Given the description of an element on the screen output the (x, y) to click on. 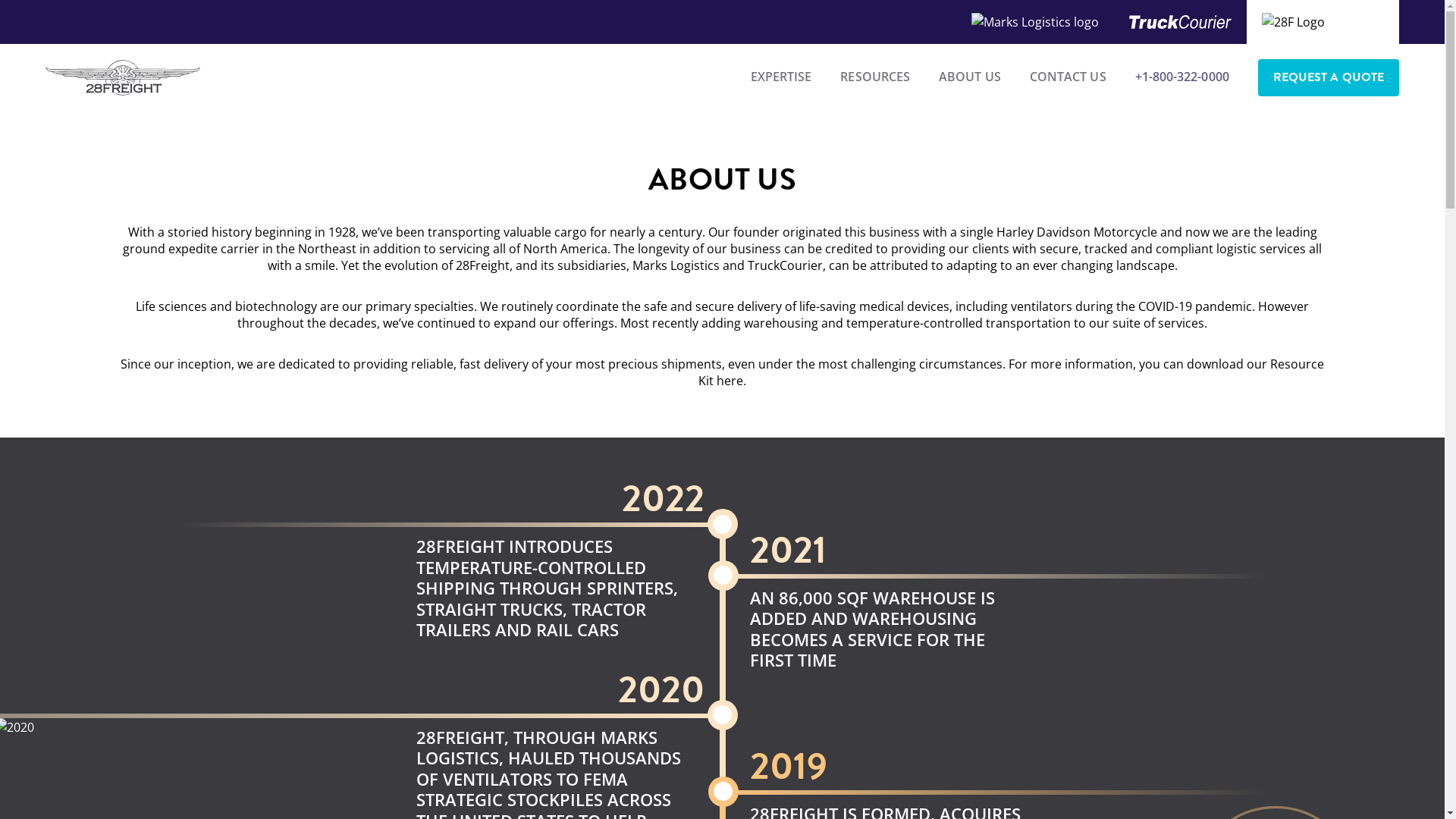
REQUEST A QUOTE Element type: text (1328, 77)
ABOUT US Element type: text (969, 76)
EXPERTISE Element type: text (781, 76)
RESOURCES Element type: text (875, 76)
here Element type: text (729, 380)
CONTACT US Element type: text (1067, 76)
+1-800-322-0000 Element type: text (1182, 76)
